Given the description of an element on the screen output the (x, y) to click on. 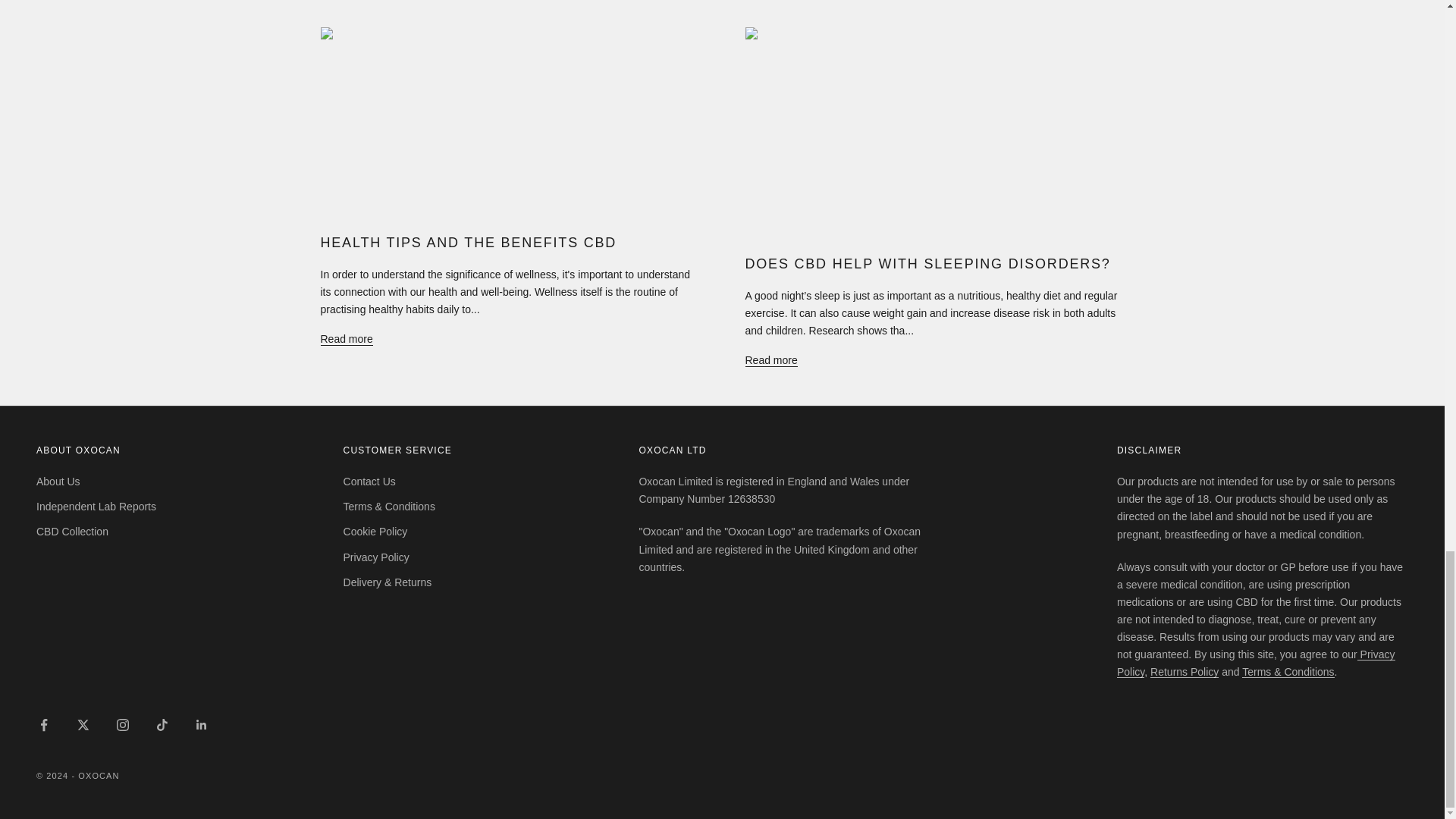
Cookie Policy (375, 531)
Privacy Policy (1255, 663)
Contact Us (369, 481)
HEALTH TIPS AND THE BENEFITS CBD (467, 242)
Read more (346, 339)
Read more (770, 360)
CBD Collection (71, 531)
Privacy Policy (1255, 663)
Terms of Service (1287, 671)
DOES CBD HELP WITH SLEEPING DISORDERS? (926, 263)
Independent Lab Reports (95, 506)
About Us (58, 481)
Privacy Policy (376, 557)
Refund Policy (1184, 671)
